Given the description of an element on the screen output the (x, y) to click on. 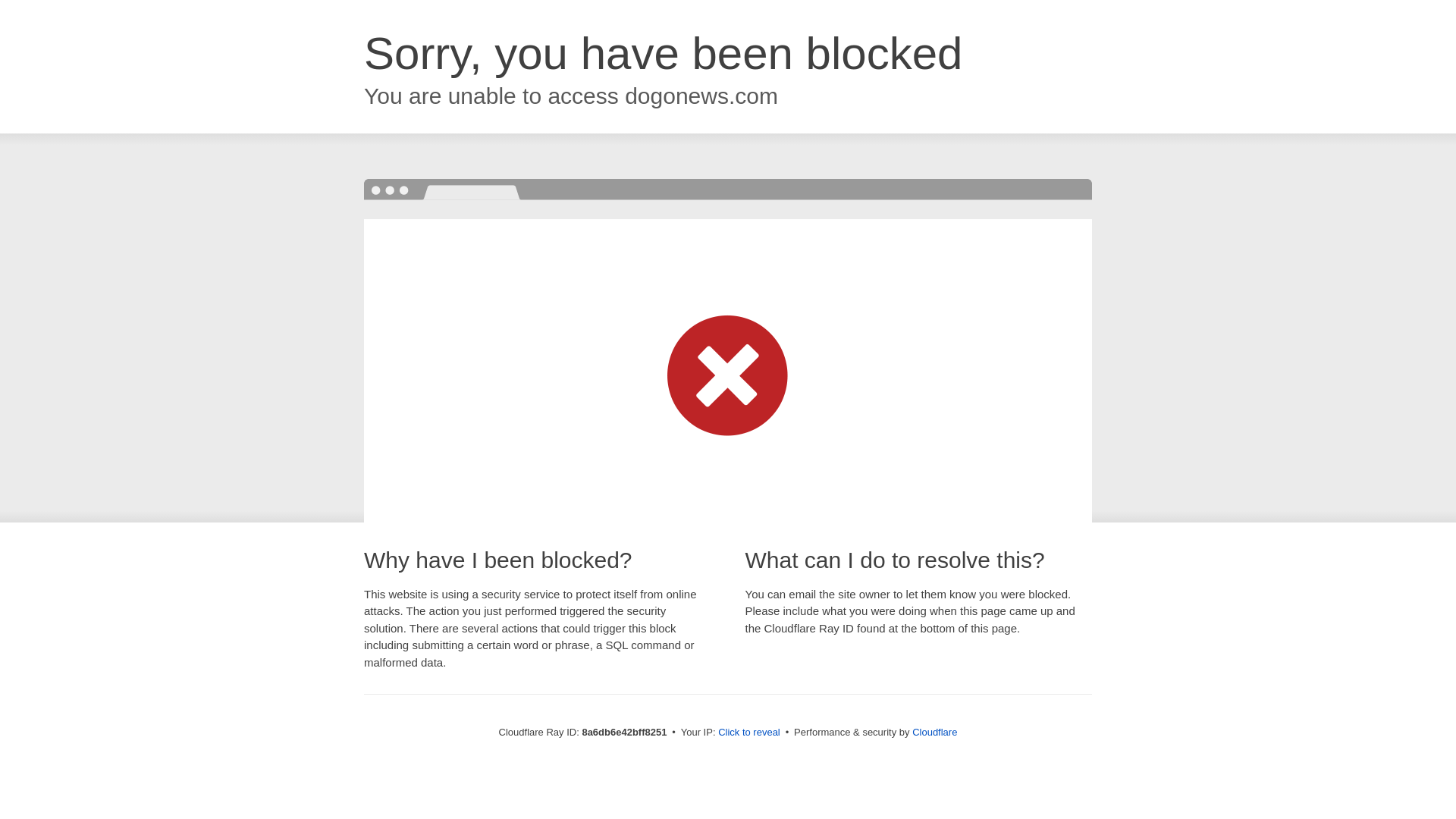
Click to reveal (748, 732)
Cloudflare (934, 731)
